Given the description of an element on the screen output the (x, y) to click on. 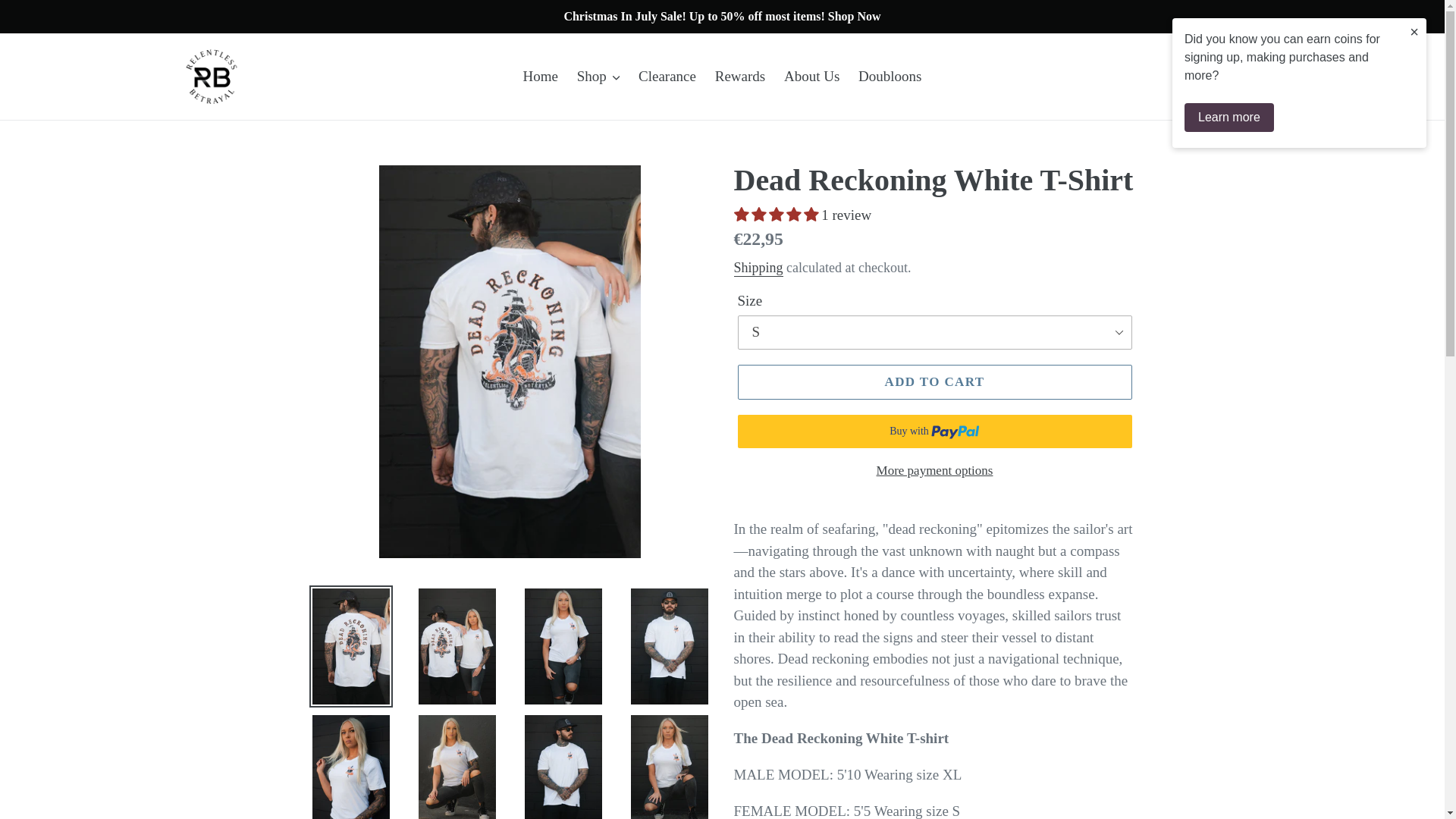
Page 1 (934, 668)
Doubloons (889, 76)
About Us (811, 76)
Clearance (666, 76)
Rewards (740, 76)
Submit (1259, 76)
Cart (1331, 76)
Log in (1296, 76)
Home (540, 76)
